Given the description of an element on the screen output the (x, y) to click on. 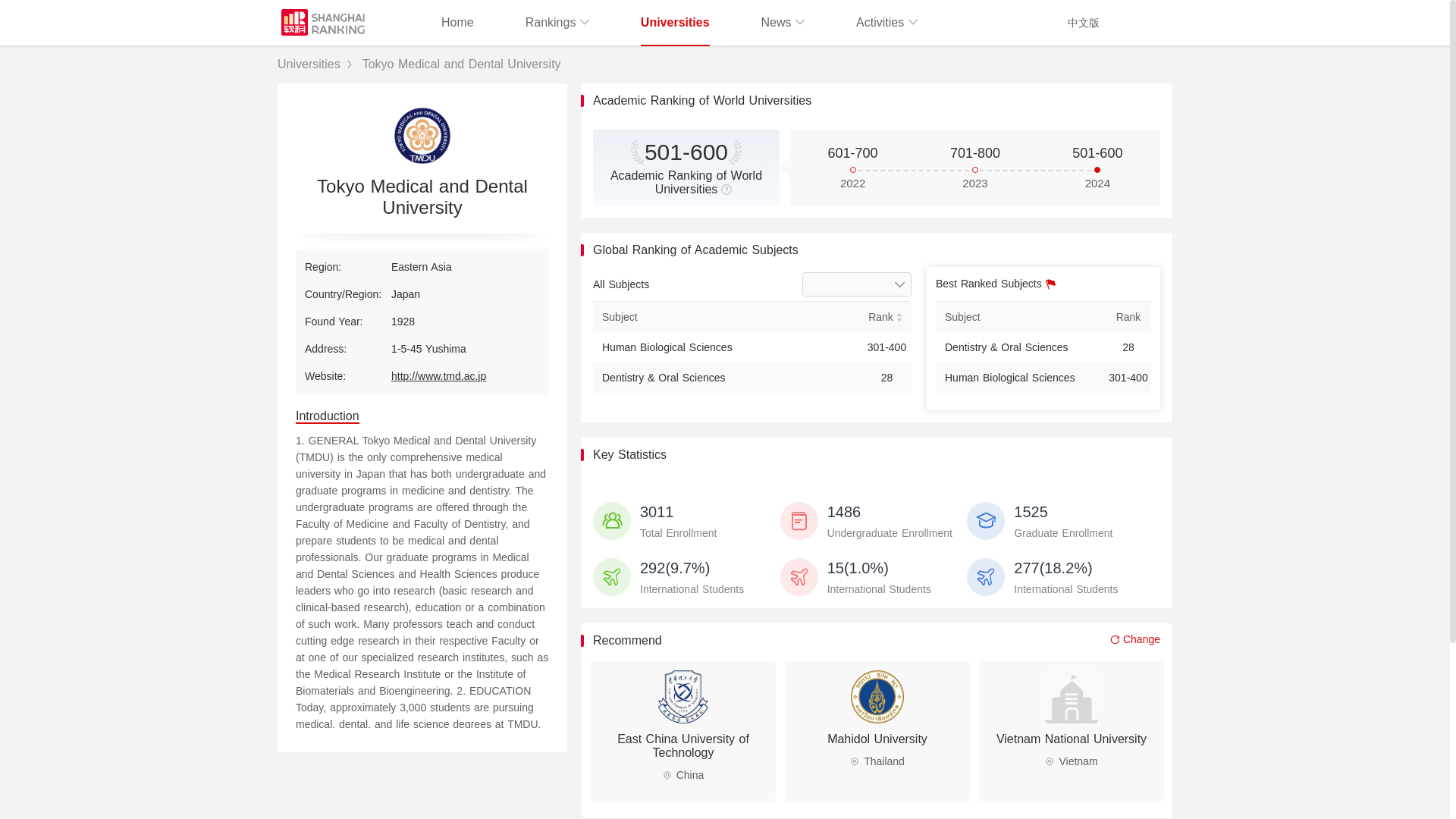
Universities (309, 63)
Rankings (557, 22)
Universities (675, 22)
News (783, 22)
Activities (683, 730)
